Given the description of an element on the screen output the (x, y) to click on. 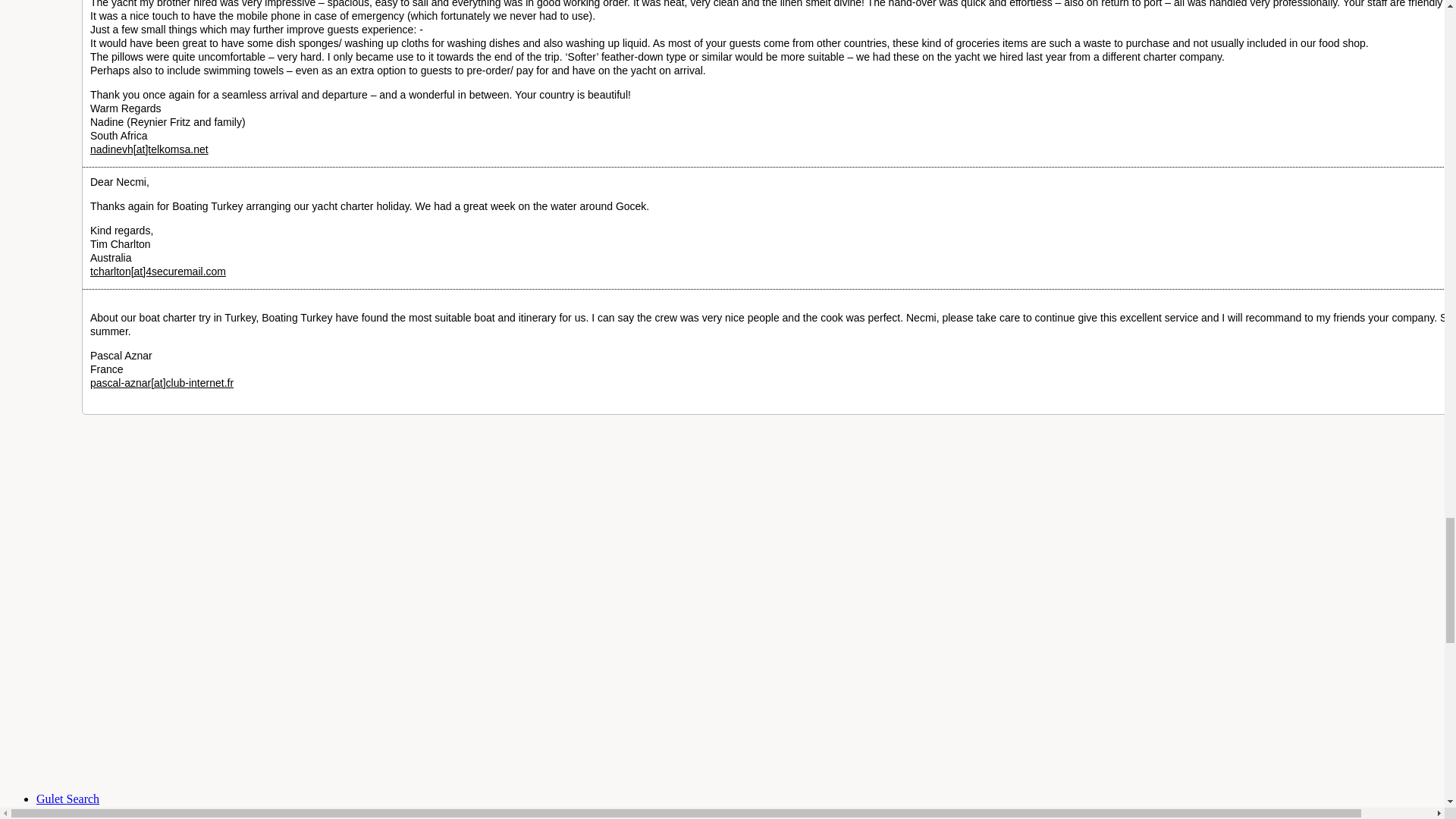
Gulet Fleet (67, 798)
Gulet Fleet (75, 812)
Rent a Bareboat (75, 812)
Gulet Search (67, 798)
